Given the description of an element on the screen output the (x, y) to click on. 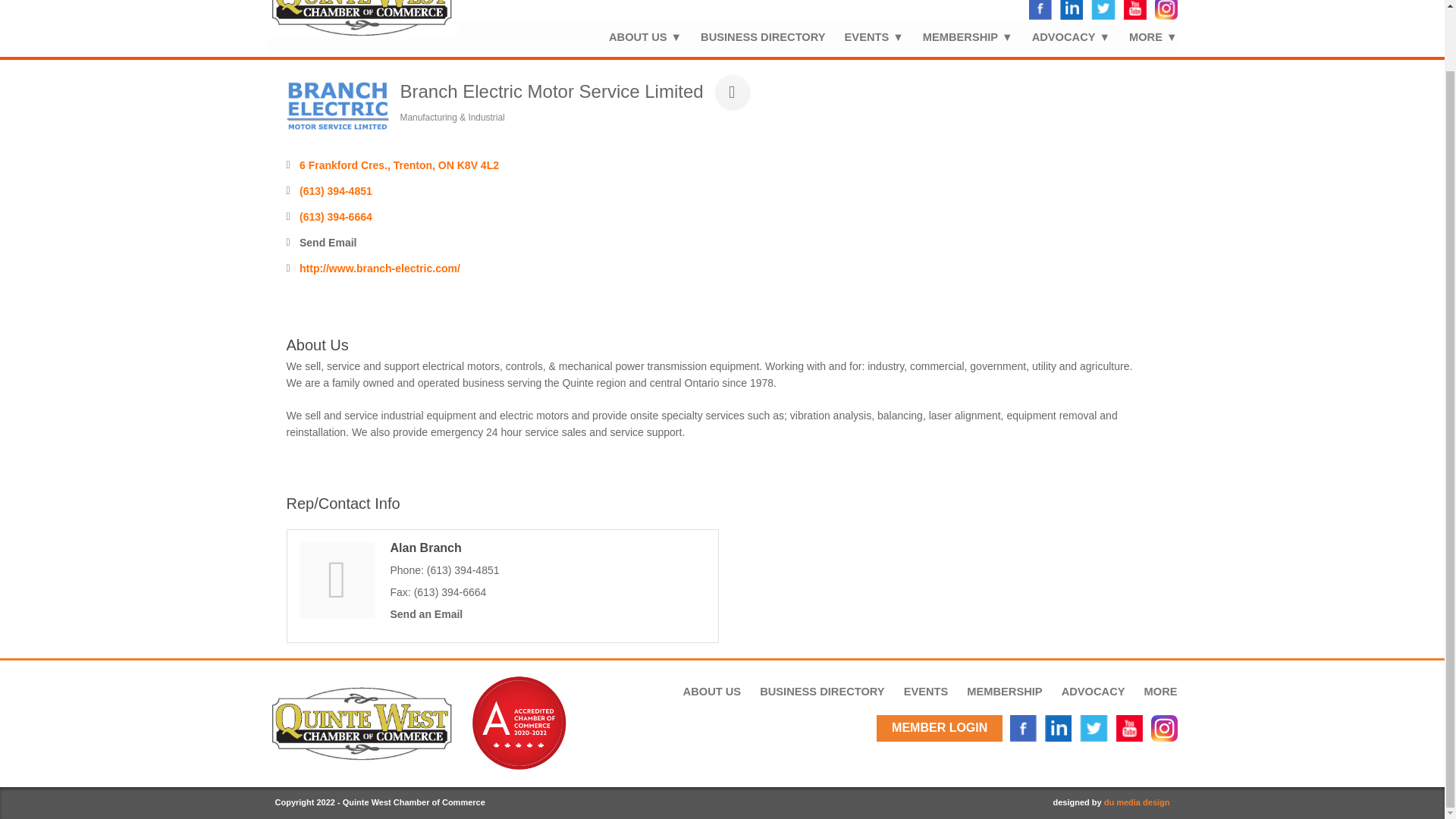
Branch Electric Motor Service Limited (337, 105)
ABOUT US (635, 36)
MEMBERSHIP (958, 36)
EVENTS (864, 36)
BUSINESS DIRECTORY (753, 36)
